Given the description of an element on the screen output the (x, y) to click on. 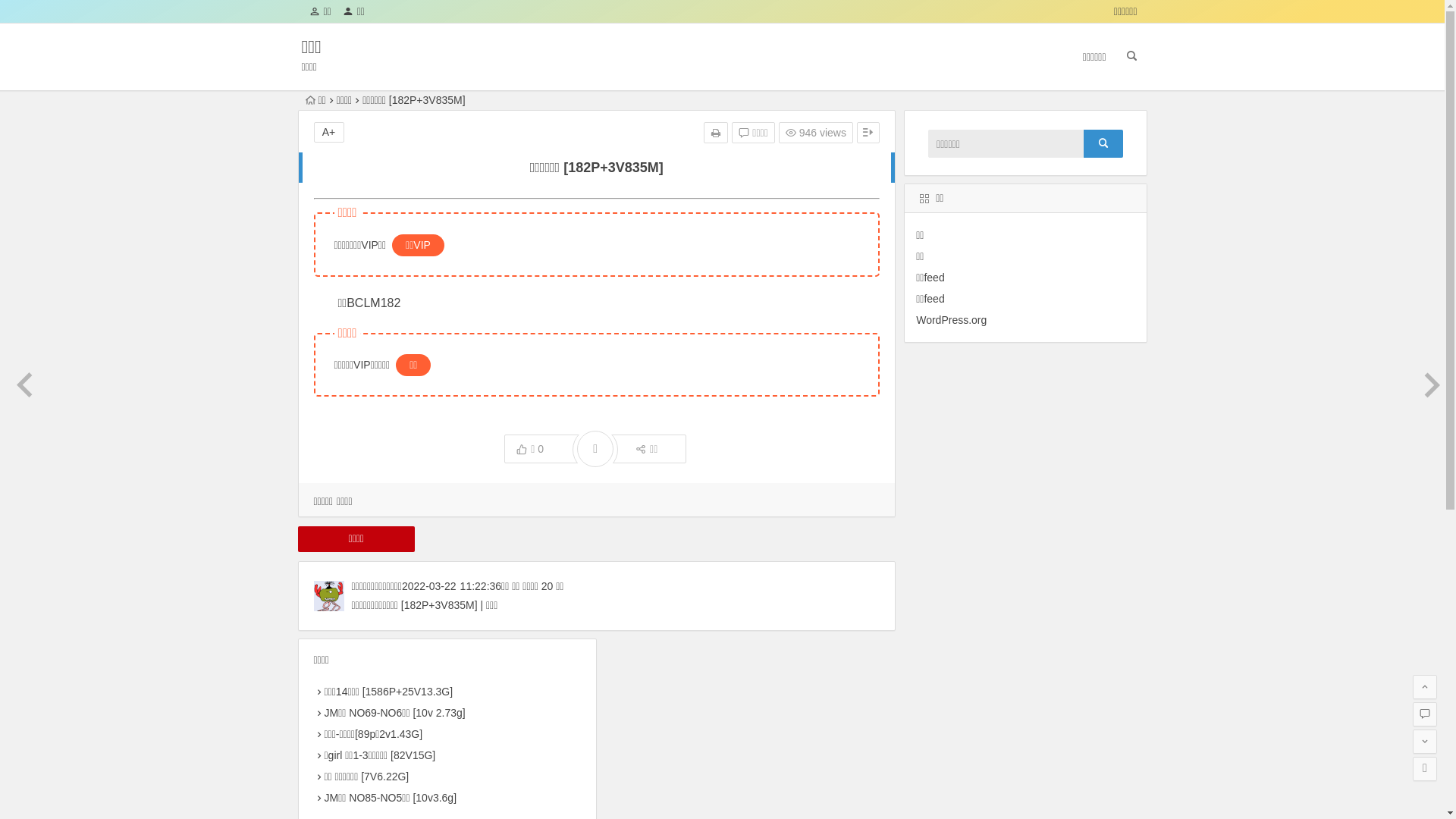
WordPress.org Element type: text (951, 319)
